Given the description of an element on the screen output the (x, y) to click on. 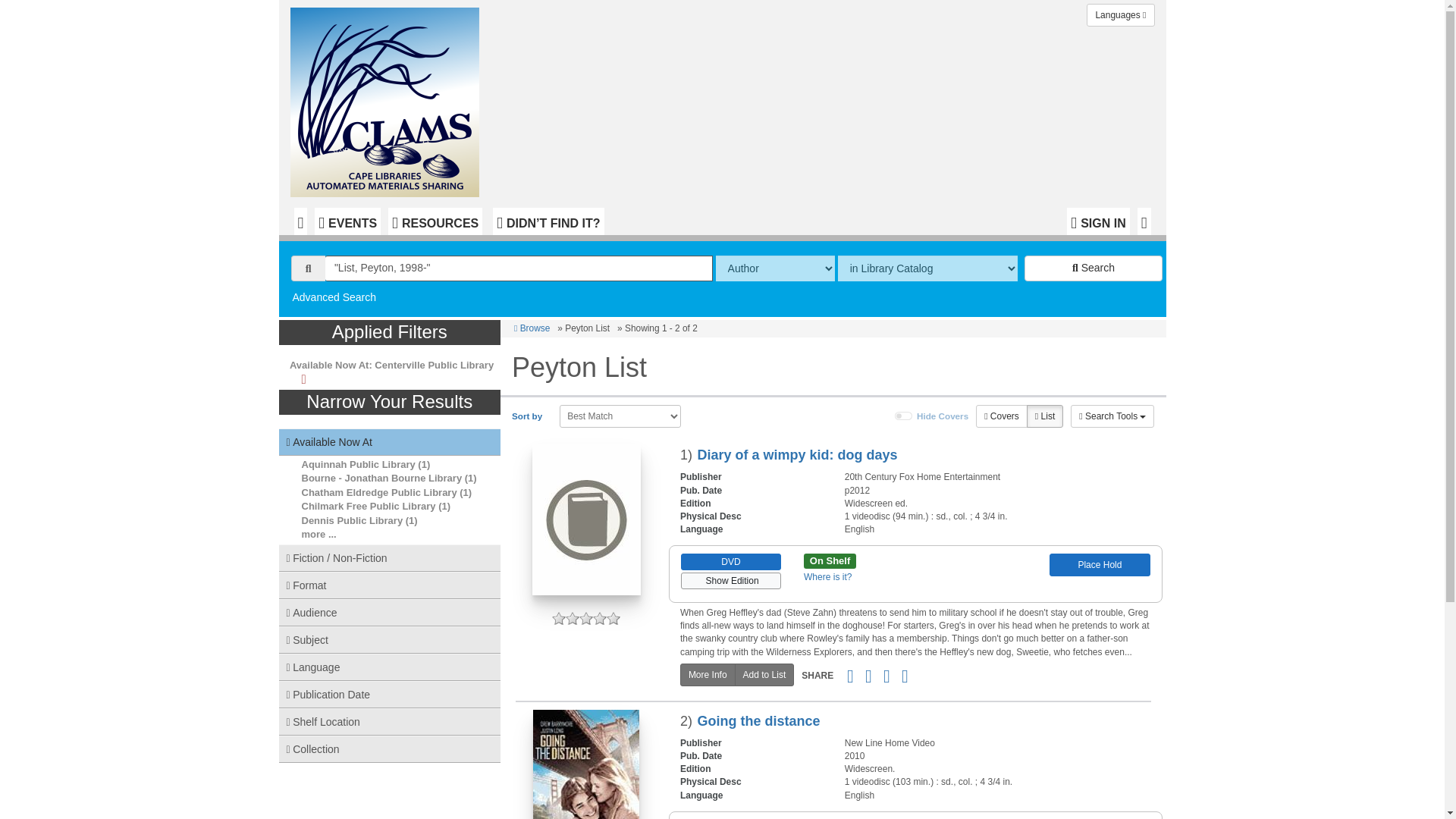
The method of searching. (775, 268)
 Search (1093, 268)
Chatham Eldredge Public Library (379, 491)
Chilmark Free Public Library (368, 505)
RESOURCES (434, 221)
Bourne - Jonathan Bourne Library (382, 478)
on (903, 415)
Advanced Search (334, 297)
SIGN IN (1098, 221)
